Given the description of an element on the screen output the (x, y) to click on. 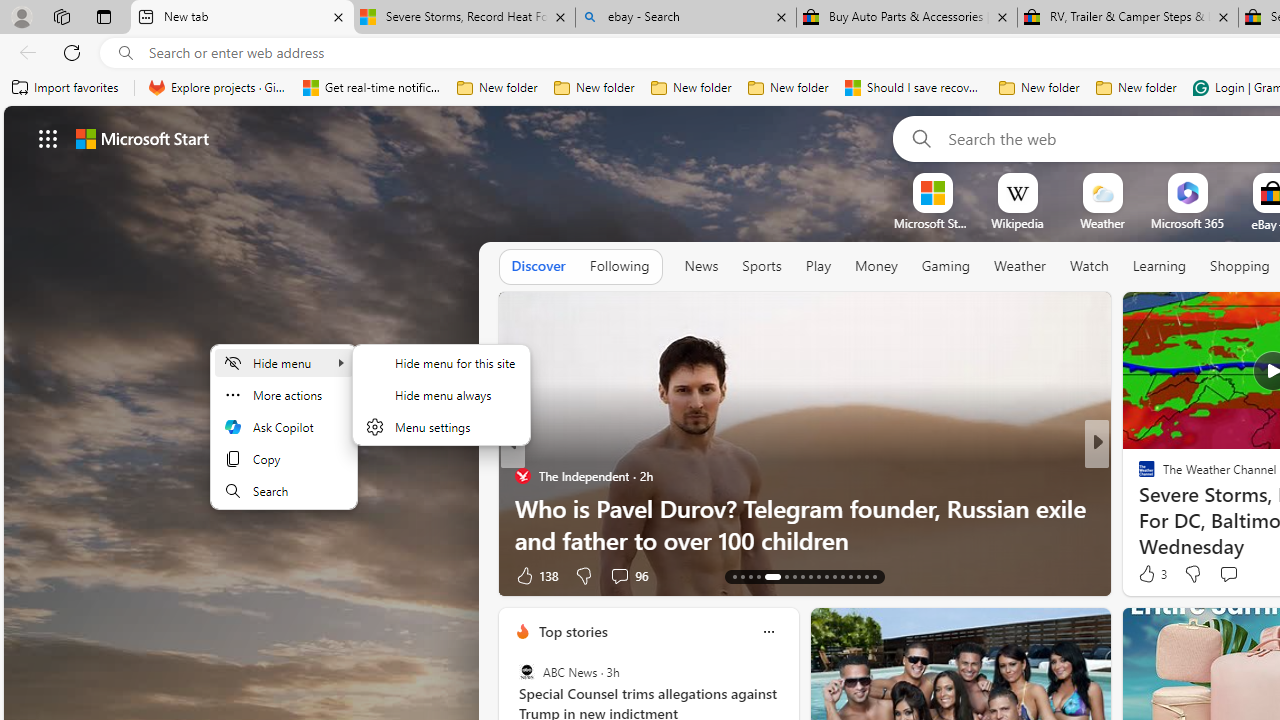
138 Like (535, 574)
AutomationID: tab-18 (786, 576)
AutomationID: tab-23 (825, 576)
AutomationID: tab-13 (733, 576)
AutomationID: tab-21 (810, 576)
Shopping (1240, 265)
AutomationID: tab-17 (772, 576)
Spotlight Feature (1138, 475)
13 Like (1149, 574)
To get missing image descriptions, open the context menu. (932, 192)
Gaming (945, 265)
Wikipedia (1017, 223)
AutomationID: tab-28 (865, 576)
